Given the description of an element on the screen output the (x, y) to click on. 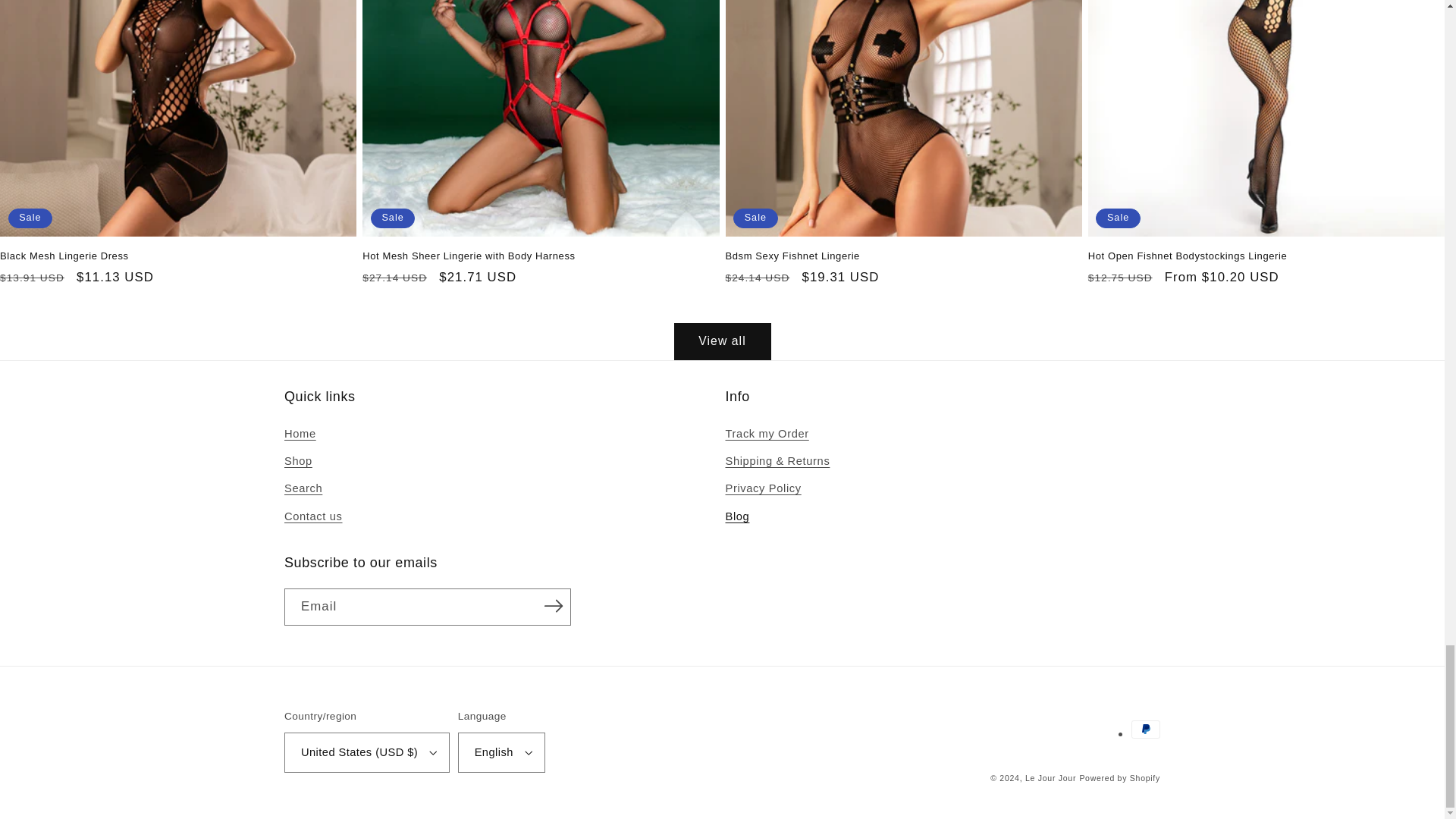
PayPal (1145, 729)
